Given the description of an element on the screen output the (x, y) to click on. 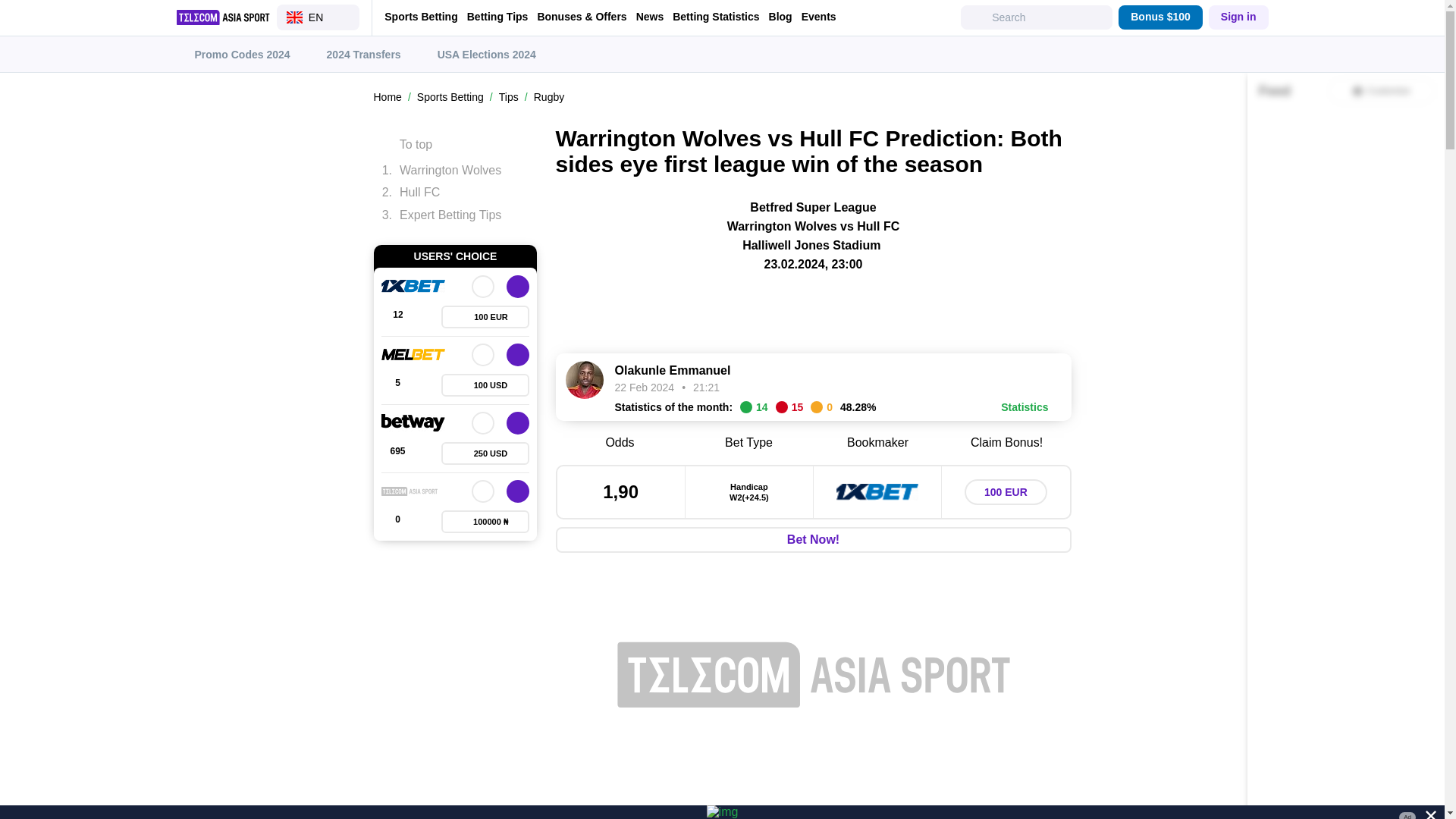
Reviews (396, 316)
Bonuses (485, 521)
EN (317, 17)
To the website (517, 422)
OVERVIEW (483, 354)
To the website (517, 354)
Bonuses (485, 316)
Reviews (396, 521)
Bonuses (485, 384)
